Given the description of an element on the screen output the (x, y) to click on. 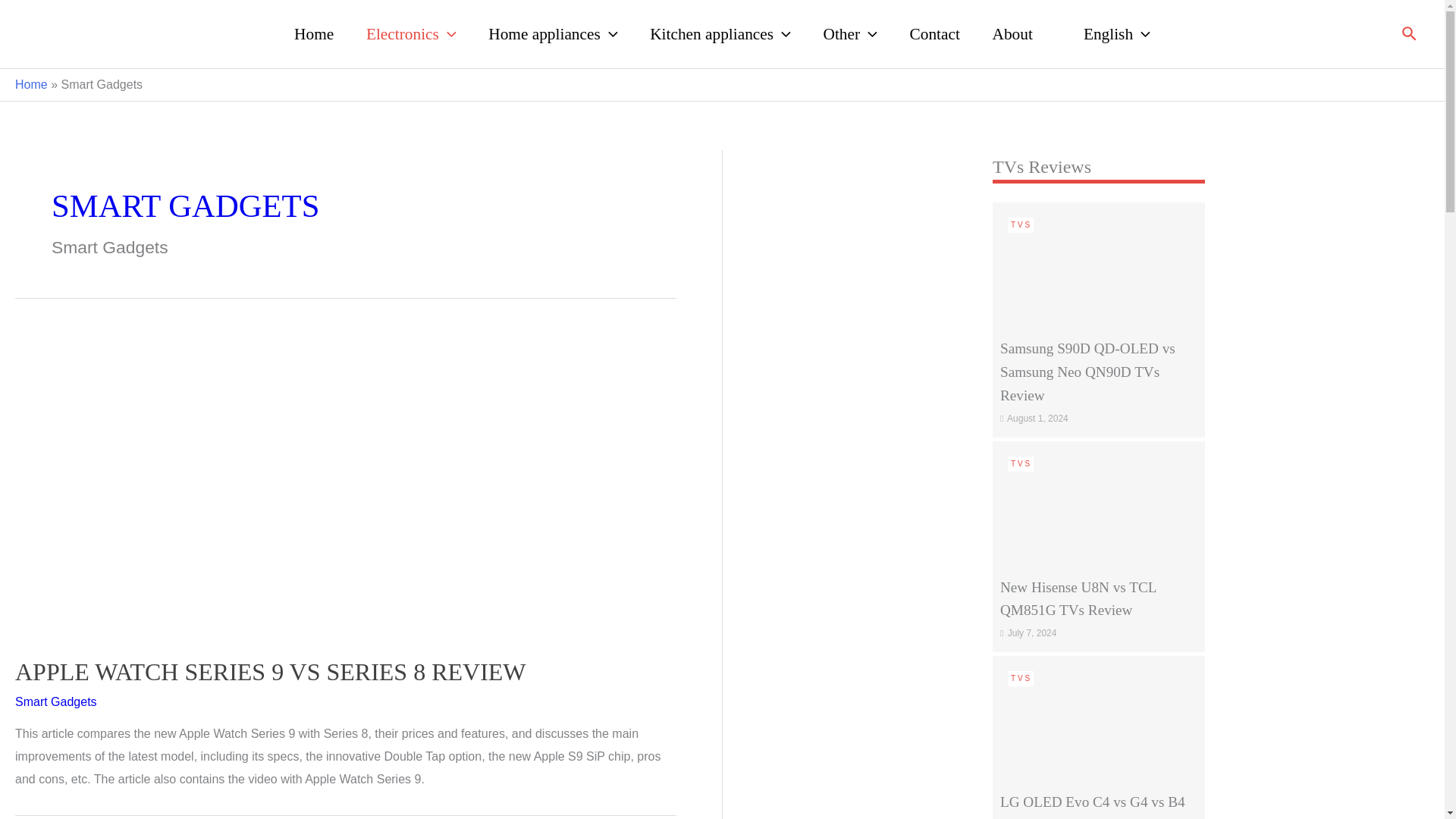
English (1107, 33)
Samsung S90D QD-OLED vs Samsung Neo QN90D TVs Review (1098, 265)
LG OLED Evo C4 vs G4 vs B4 vs C3 Review (1098, 718)
Home appliances (552, 33)
New Hisense U8N vs TCL QM851G TVs Review (1098, 503)
Home (314, 33)
Kitchen appliances (719, 33)
Electronics (410, 33)
